Given the description of an element on the screen output the (x, y) to click on. 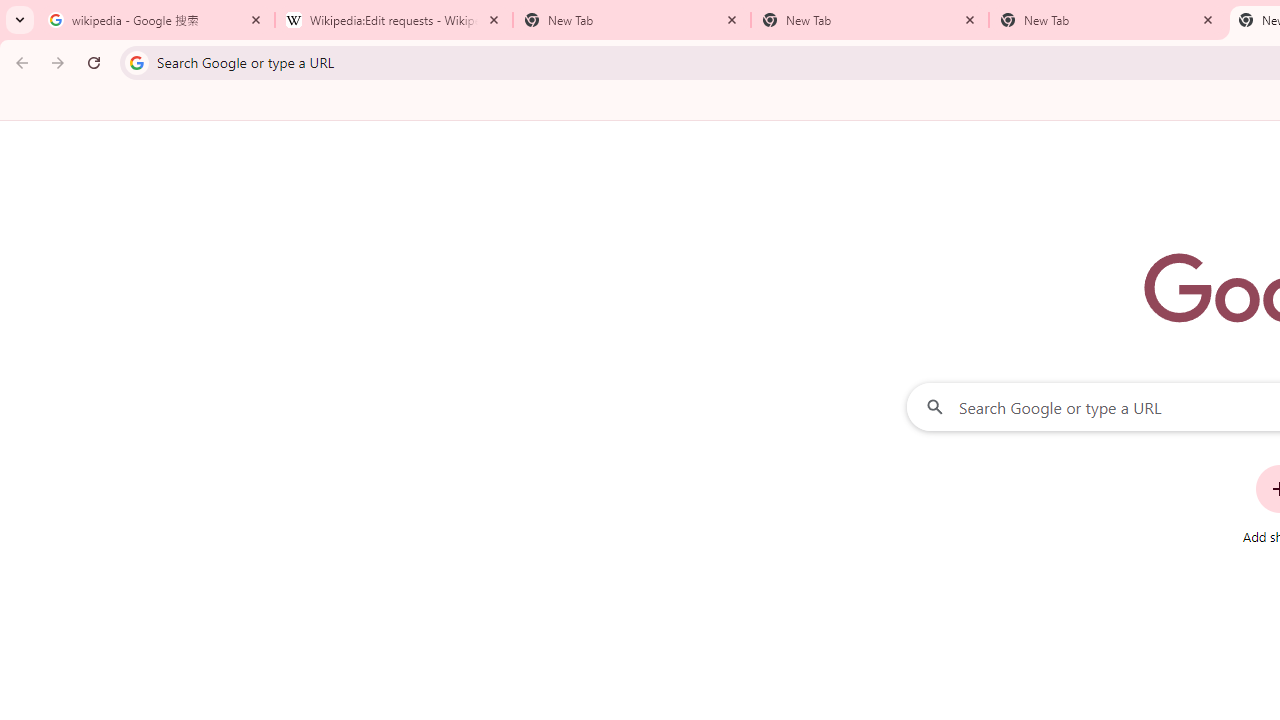
New Tab (1108, 20)
New Tab (870, 20)
New Tab (632, 20)
Wikipedia:Edit requests - Wikipedia (394, 20)
